Given the description of an element on the screen output the (x, y) to click on. 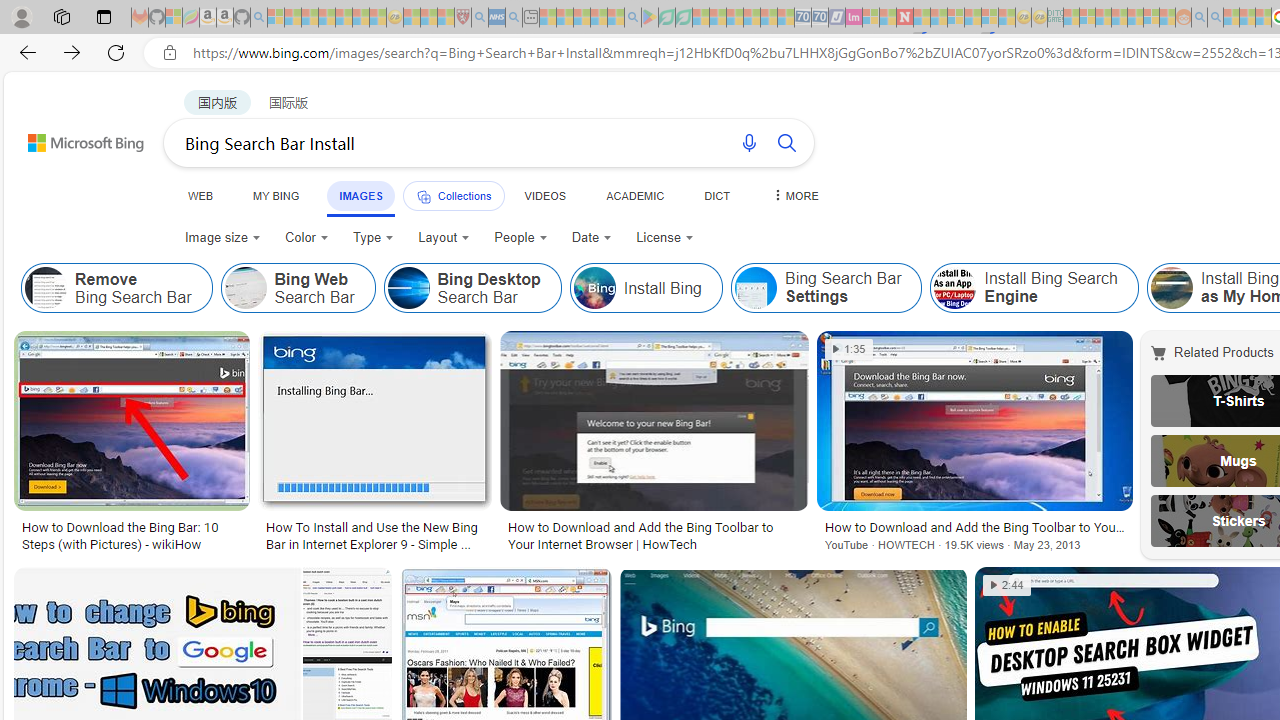
Image size (222, 237)
Bing Web Search Bar (298, 287)
Bing Search Bar Settings (825, 287)
Color (305, 237)
